Given the description of an element on the screen output the (x, y) to click on. 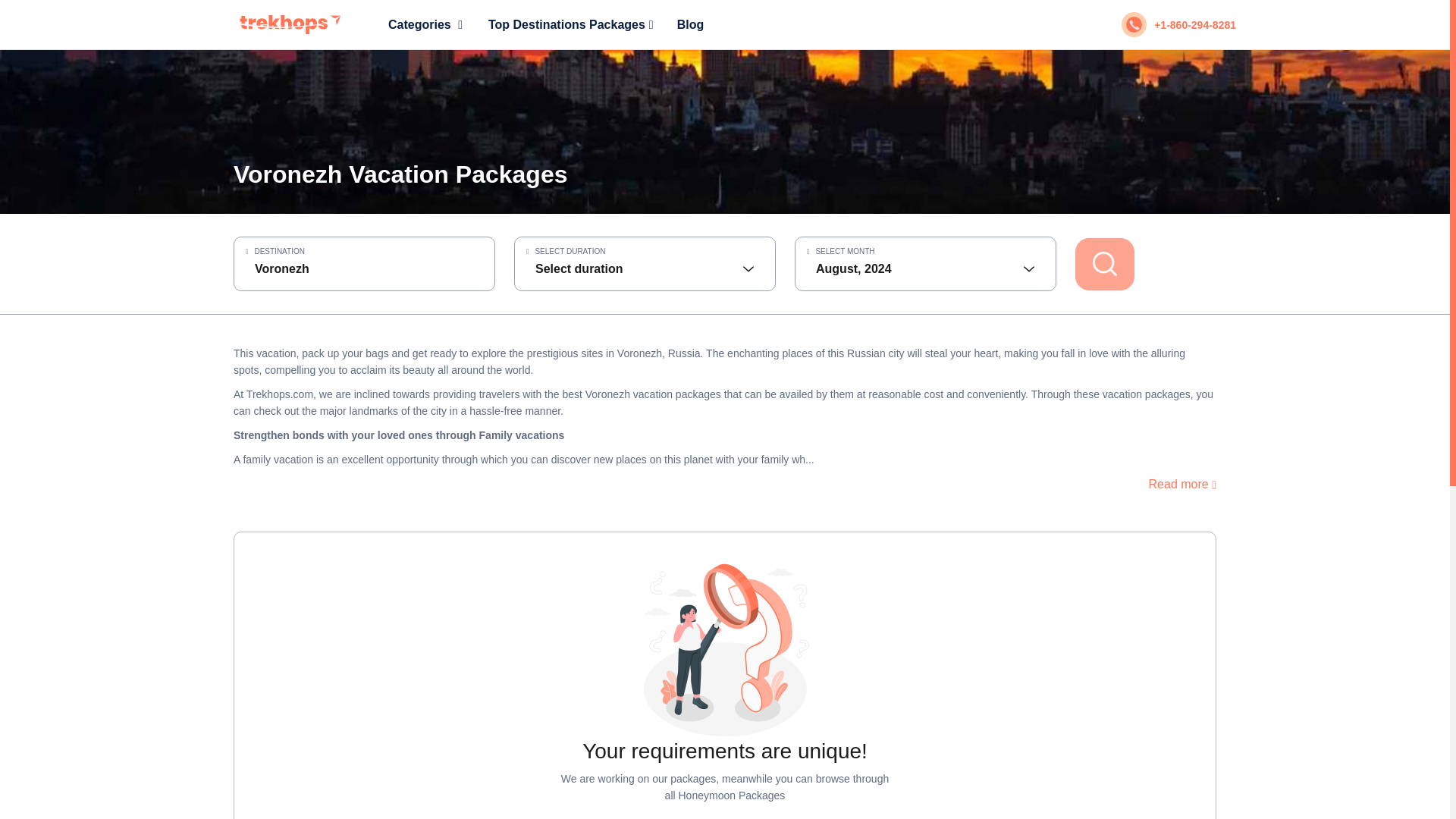
Read more (1181, 483)
Categories (424, 24)
Voronezh (364, 268)
Select duration (643, 268)
Blog (690, 24)
August, 2024 (924, 268)
Top Destinations Packages (570, 24)
